Given the description of an element on the screen output the (x, y) to click on. 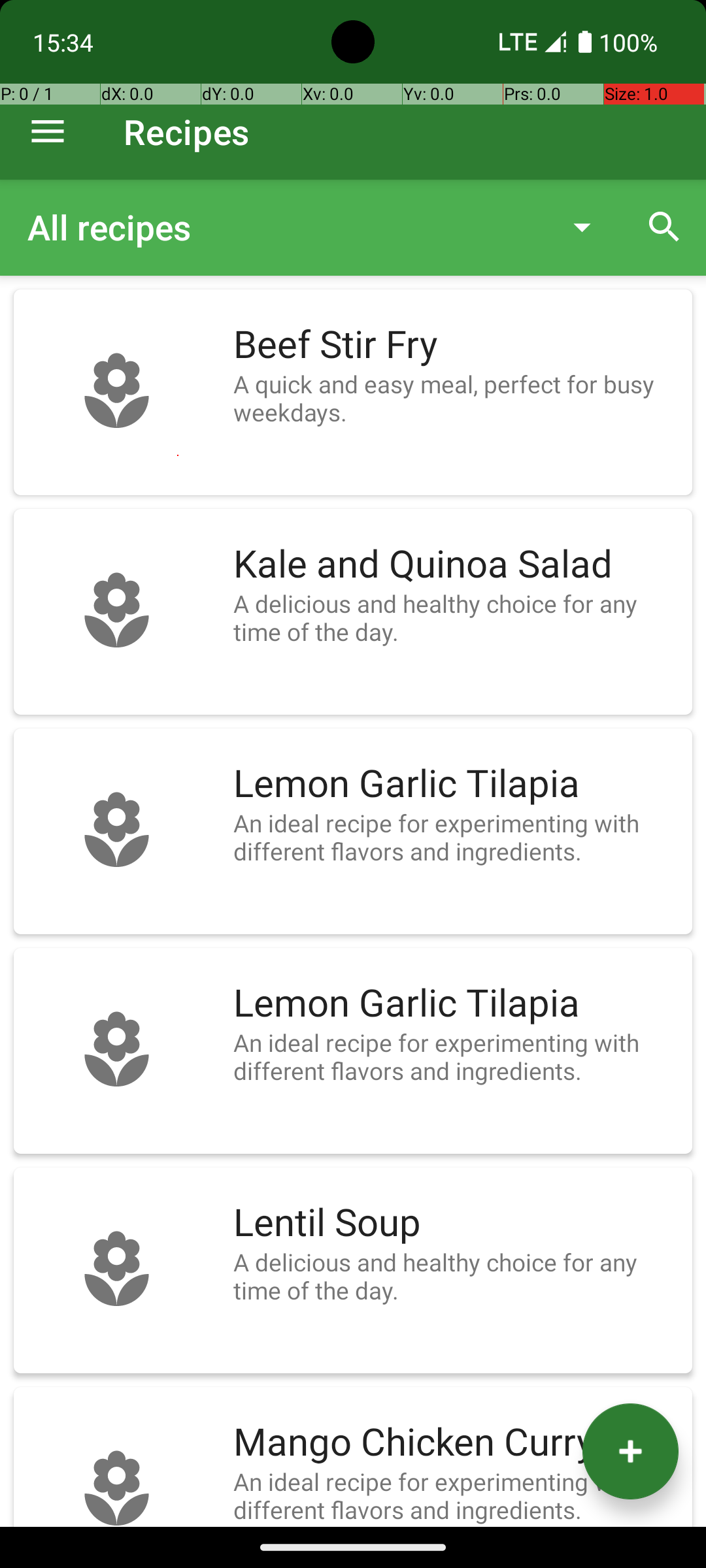
Mango Chicken Curry Element type: android.widget.TextView (455, 1442)
